Given the description of an element on the screen output the (x, y) to click on. 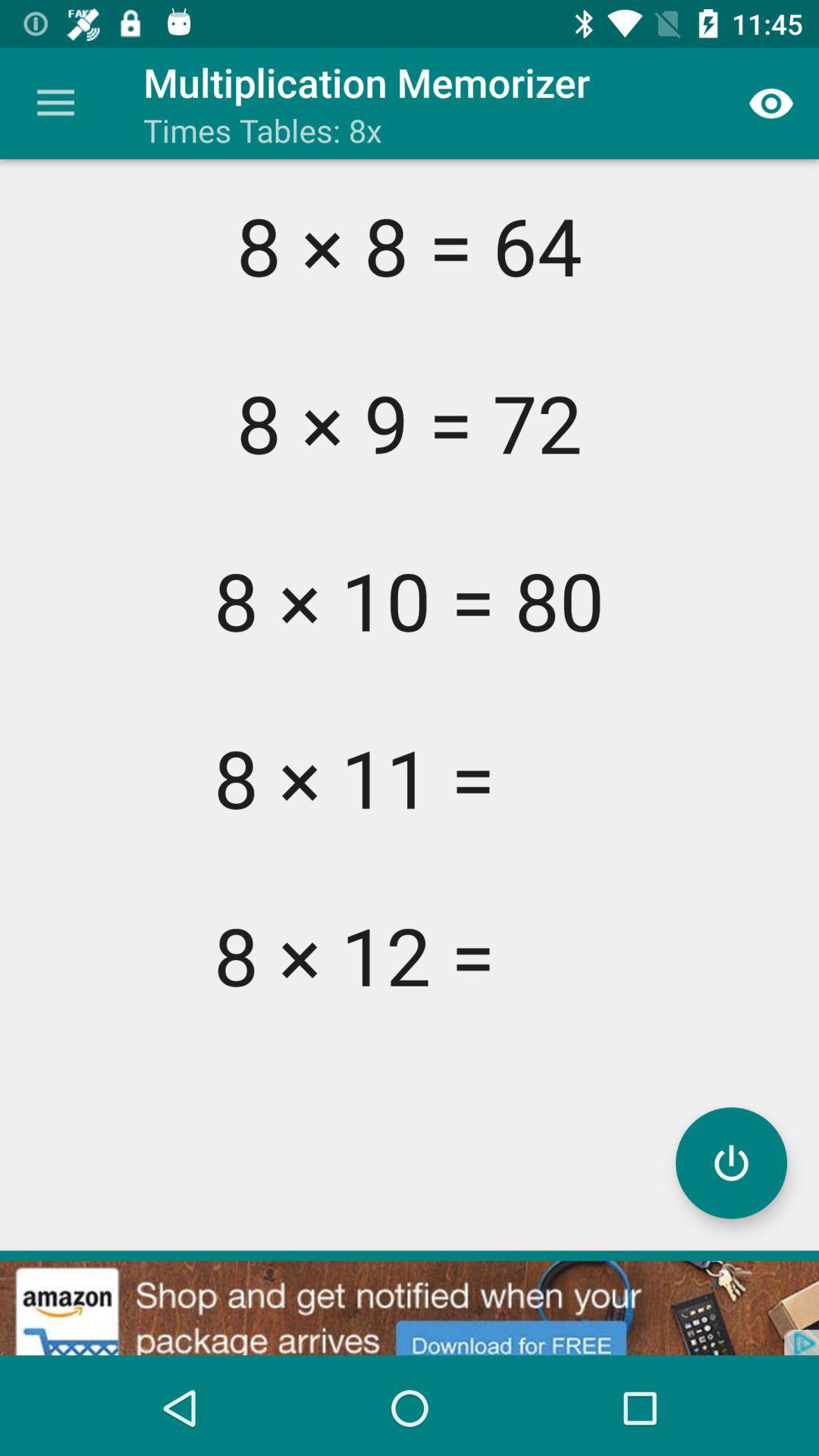
start (731, 1162)
